Given the description of an element on the screen output the (x, y) to click on. 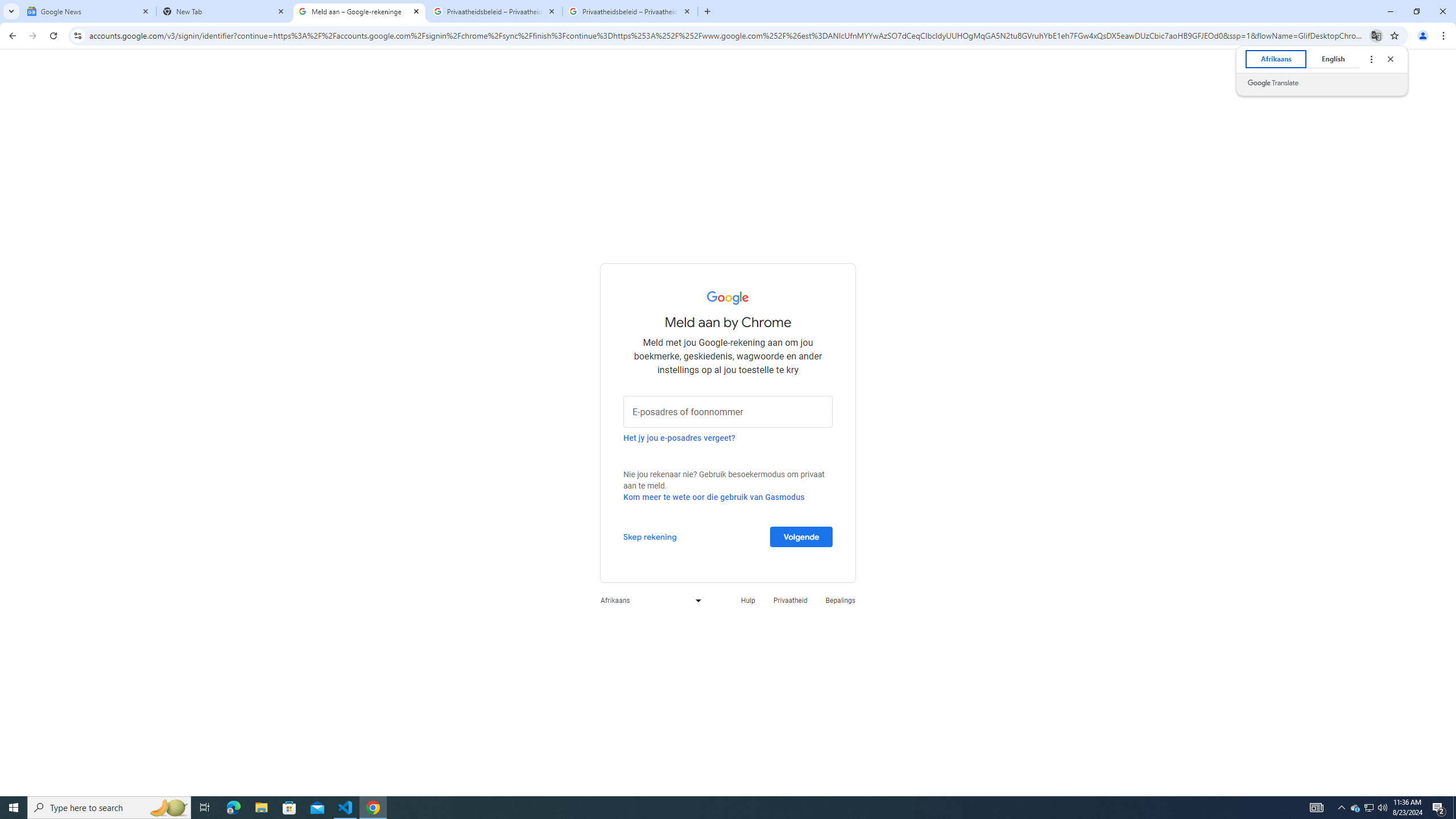
Start (13, 807)
Visual Studio Code - 1 running window (345, 807)
Afrikaans (1275, 58)
Task View (204, 807)
Het jy jou e-posadres vergeet? (678, 437)
Notification Chevron (1341, 807)
Type here to search (108, 807)
English (1332, 58)
Microsoft Store (289, 807)
Running applications (717, 807)
